Given the description of an element on the screen output the (x, y) to click on. 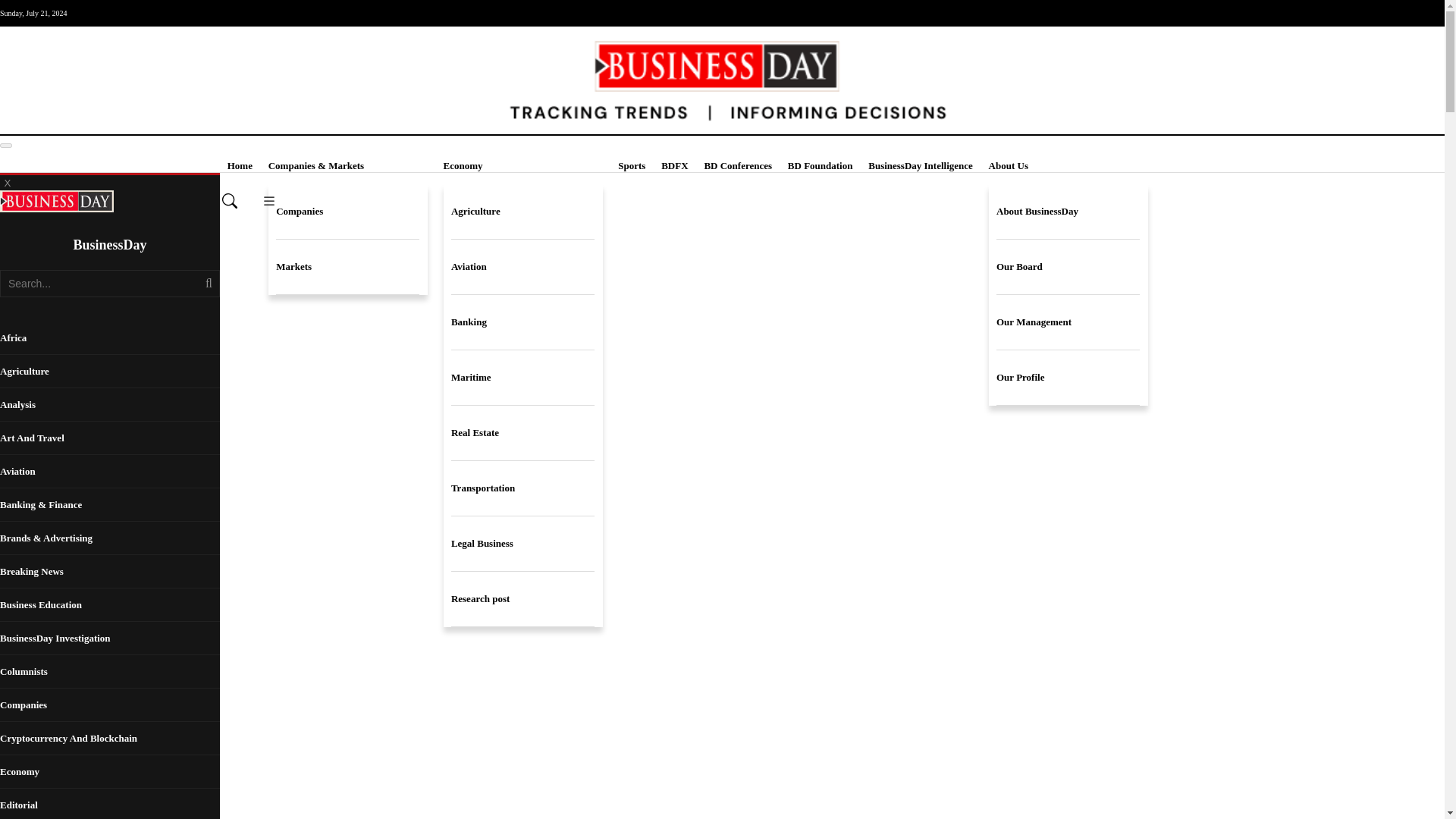
Economy (523, 166)
BD Conferences (737, 166)
Companies (347, 211)
Real Estate (522, 433)
Legal Business (522, 543)
Our Profile (1067, 377)
Companies (347, 211)
Transportation (522, 488)
X (7, 182)
Research post (522, 599)
Agriculture (522, 211)
Research post (522, 599)
Maritime (522, 377)
Africa (109, 337)
Our Management (1067, 322)
